Given the description of an element on the screen output the (x, y) to click on. 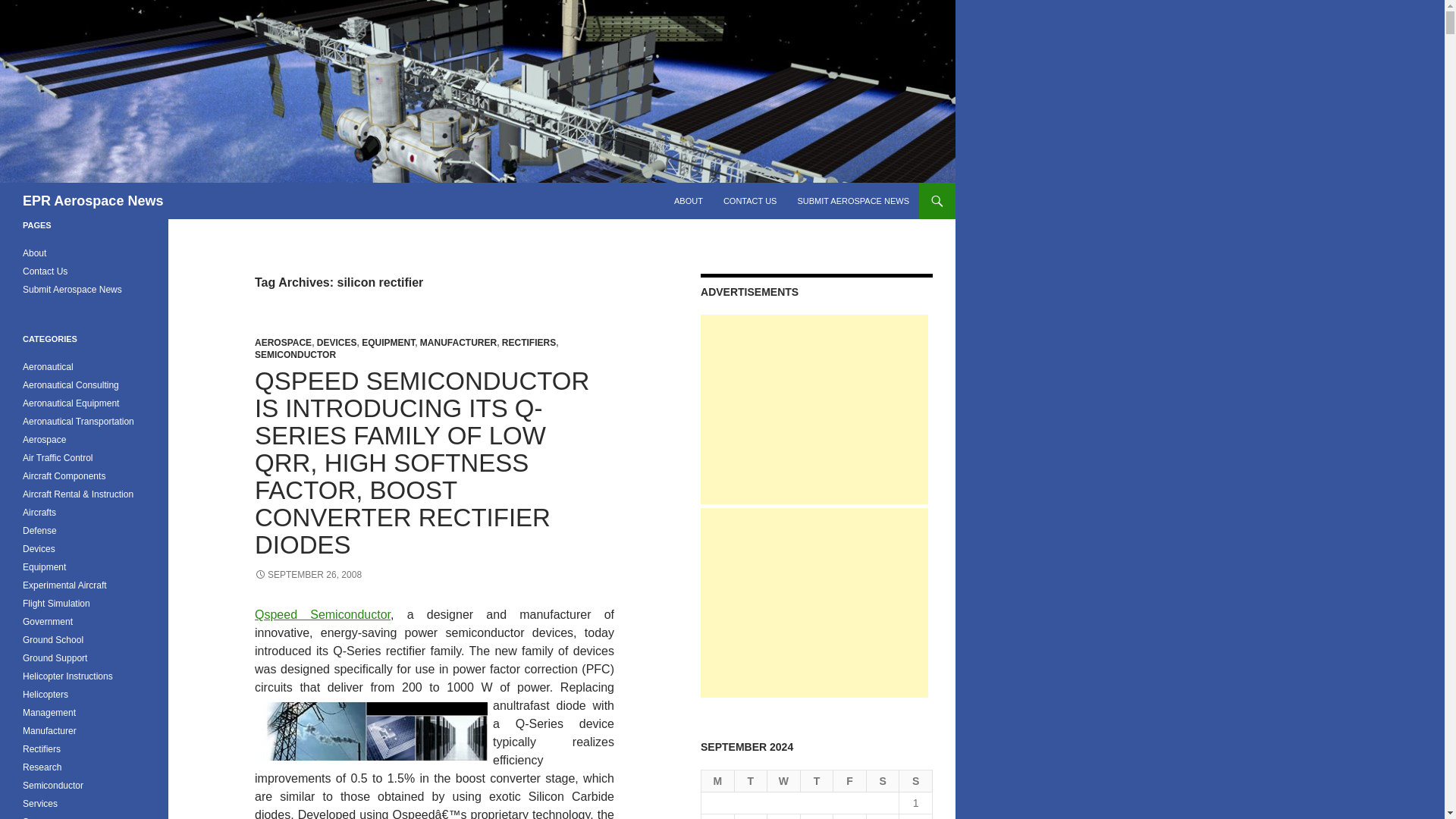
SUBMIT AEROSPACE NEWS (852, 200)
DEVICES (336, 342)
Saturday (882, 781)
CONTACT US (750, 200)
Sunday (916, 781)
Wednesday (783, 781)
AEROSPACE (282, 342)
ABOUT (688, 200)
Thursday (817, 781)
